Given the description of an element on the screen output the (x, y) to click on. 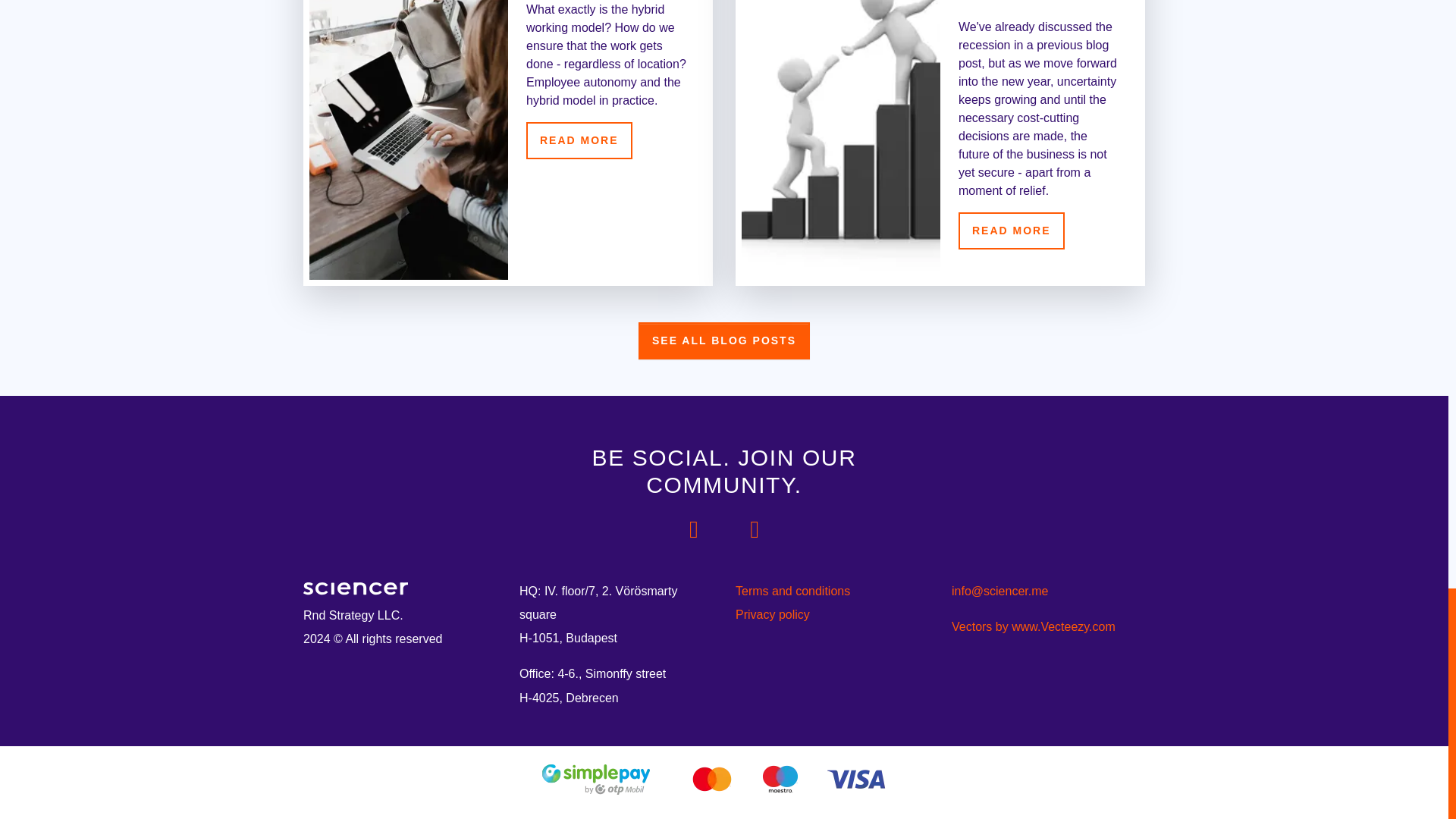
READ MORE (1011, 230)
LinkedIn (754, 529)
Terms and conditions (831, 590)
Vectors by www.Vecteezy.com (1033, 626)
Terms and conditions (831, 590)
SEE ALL BLOG POSTS (724, 340)
Privacy policy (831, 614)
Privacy policy (831, 614)
Facebook (693, 529)
READ MORE (578, 140)
